Given the description of an element on the screen output the (x, y) to click on. 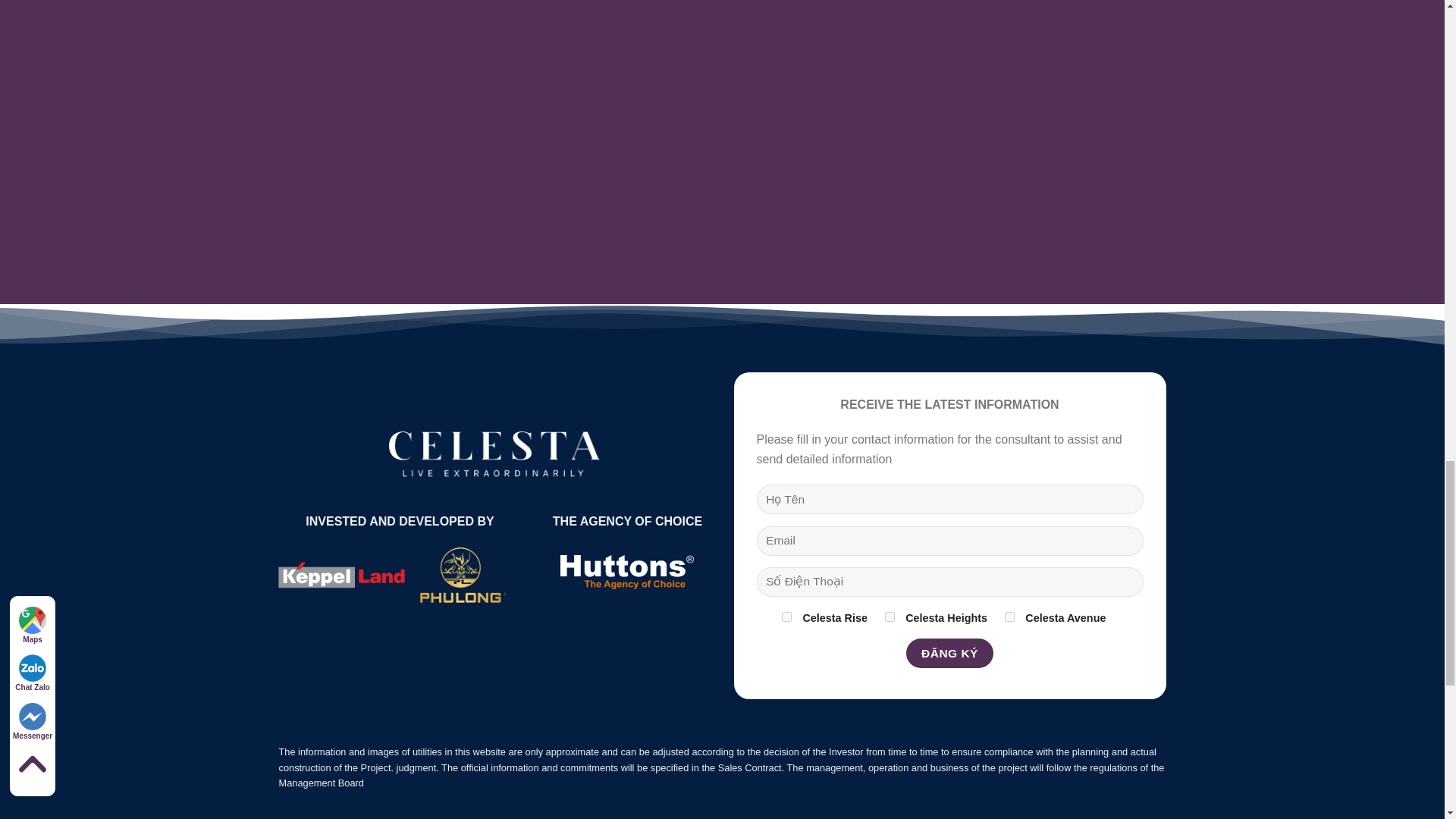
Celesta Heights (890, 616)
Celesta Avenue (1009, 616)
Celesta Rise (786, 616)
